Given the description of an element on the screen output the (x, y) to click on. 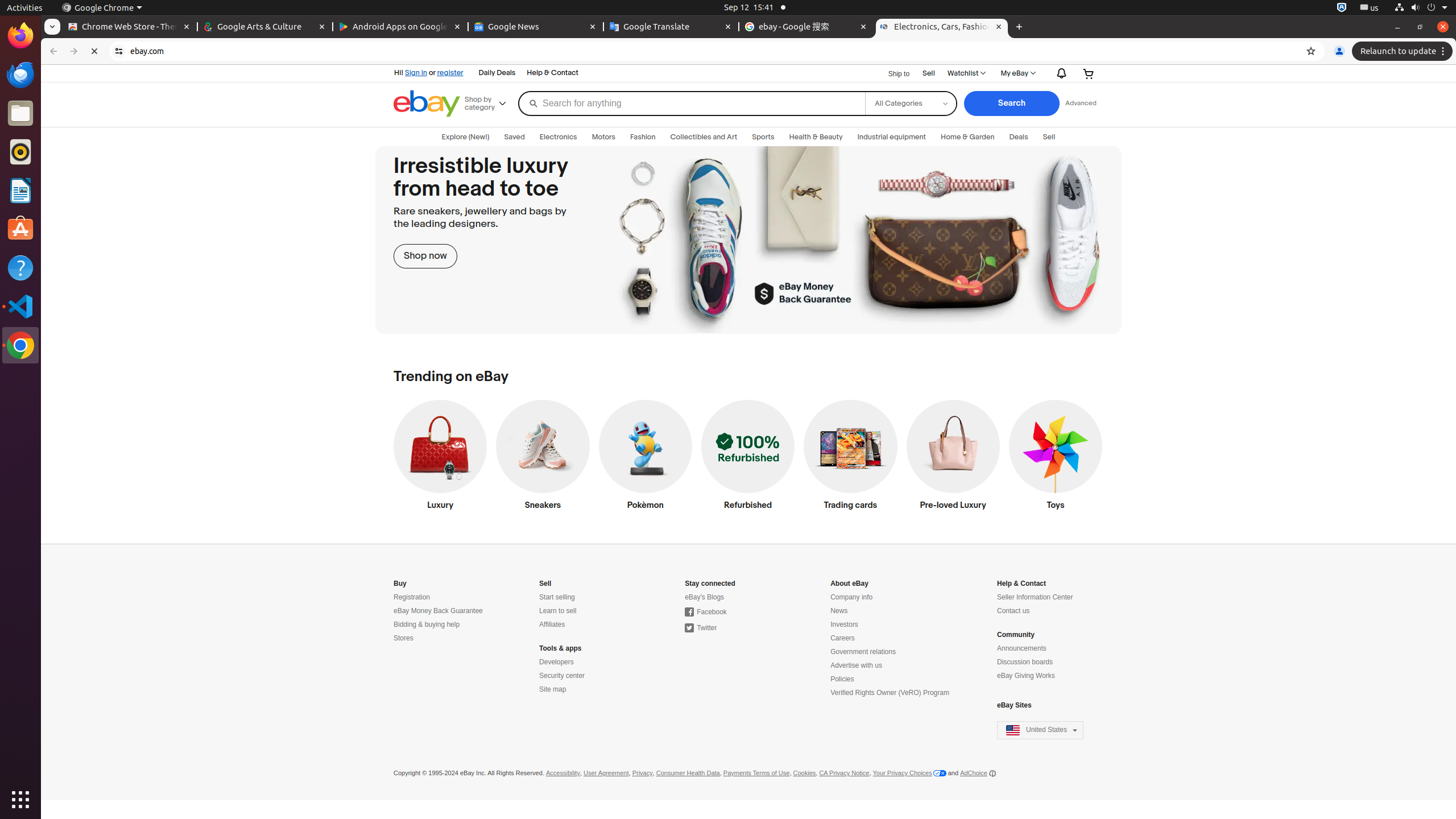
Accessibility Element type: link (562, 773)
Bookmark this tab Element type: push-button (1310, 51)
eBay Money Back Guarantee Element type: link (437, 610)
eBay's Blogs Element type: link (704, 597)
Advanced Search Element type: link (1080, 103)
